Given the description of an element on the screen output the (x, y) to click on. 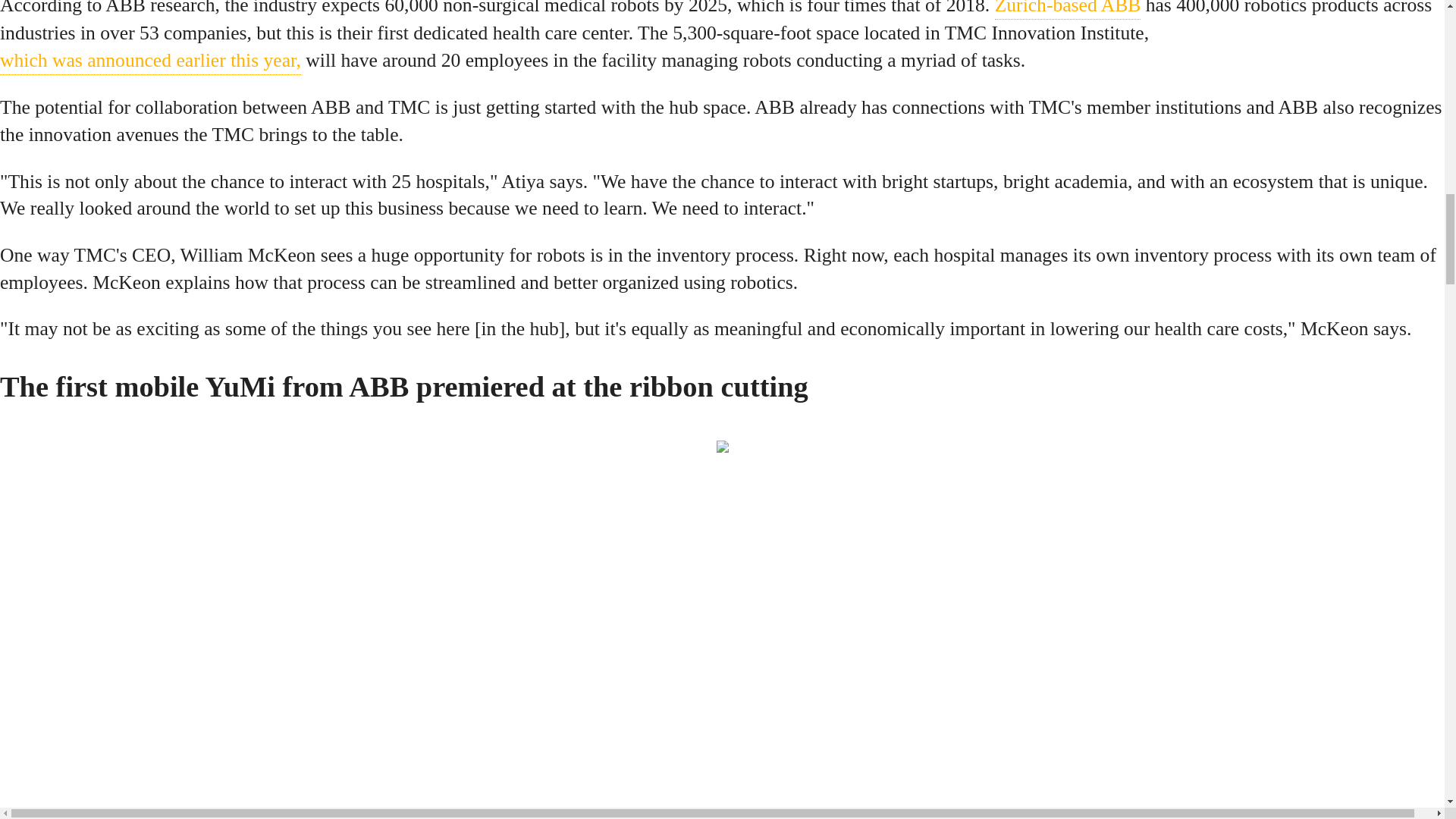
Zurich-based ABB (1067, 9)
which was announced earlier this year, (150, 60)
